Given the description of an element on the screen output the (x, y) to click on. 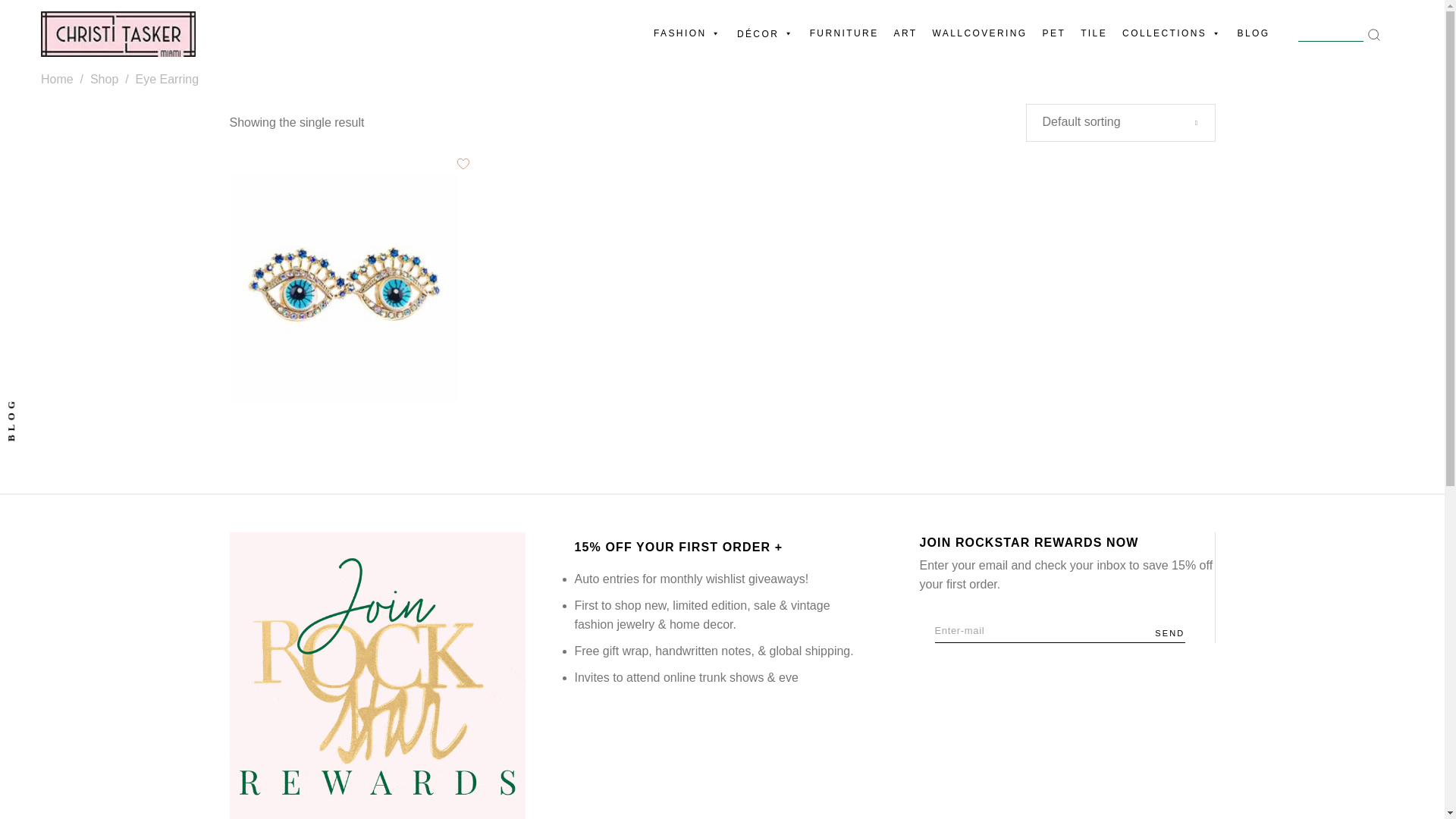
BLOG (27, 402)
COLLECTIONS (1172, 33)
Search for: (1339, 34)
FASHION (687, 33)
WALLCOVERING (979, 33)
ART (905, 33)
TILE (1094, 33)
Default sorting (1120, 122)
BLOG (1254, 33)
FURNITURE (844, 33)
PET (1054, 33)
